Given the description of an element on the screen output the (x, y) to click on. 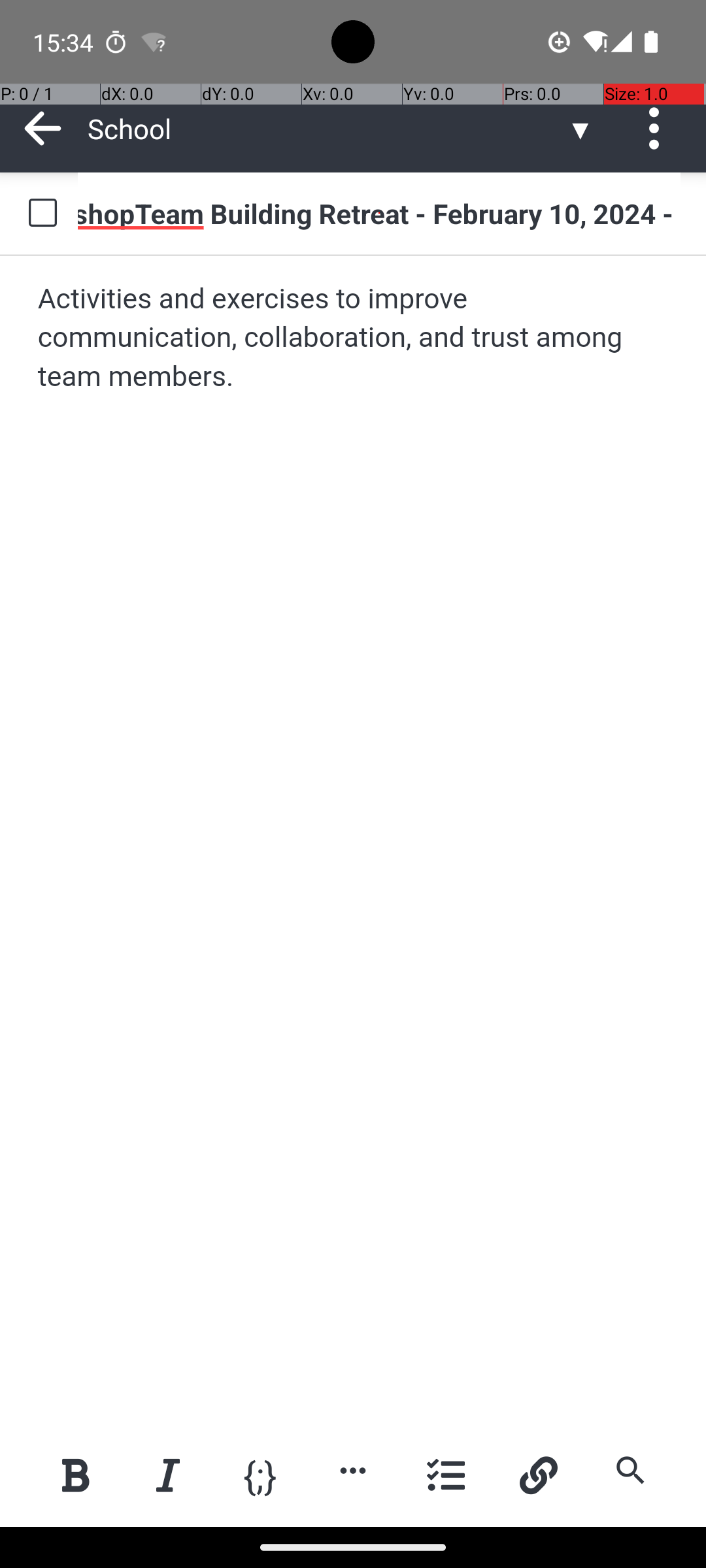
Team Building WorkshopTeam Building Retreat - February 10, 2024 - January 17, 2024 Element type: android.widget.EditText (378, 213)
Activities and exercises to improve communication, collaboration, and trust among team members. Element type: android.widget.EditText (354, 338)
